Given the description of an element on the screen output the (x, y) to click on. 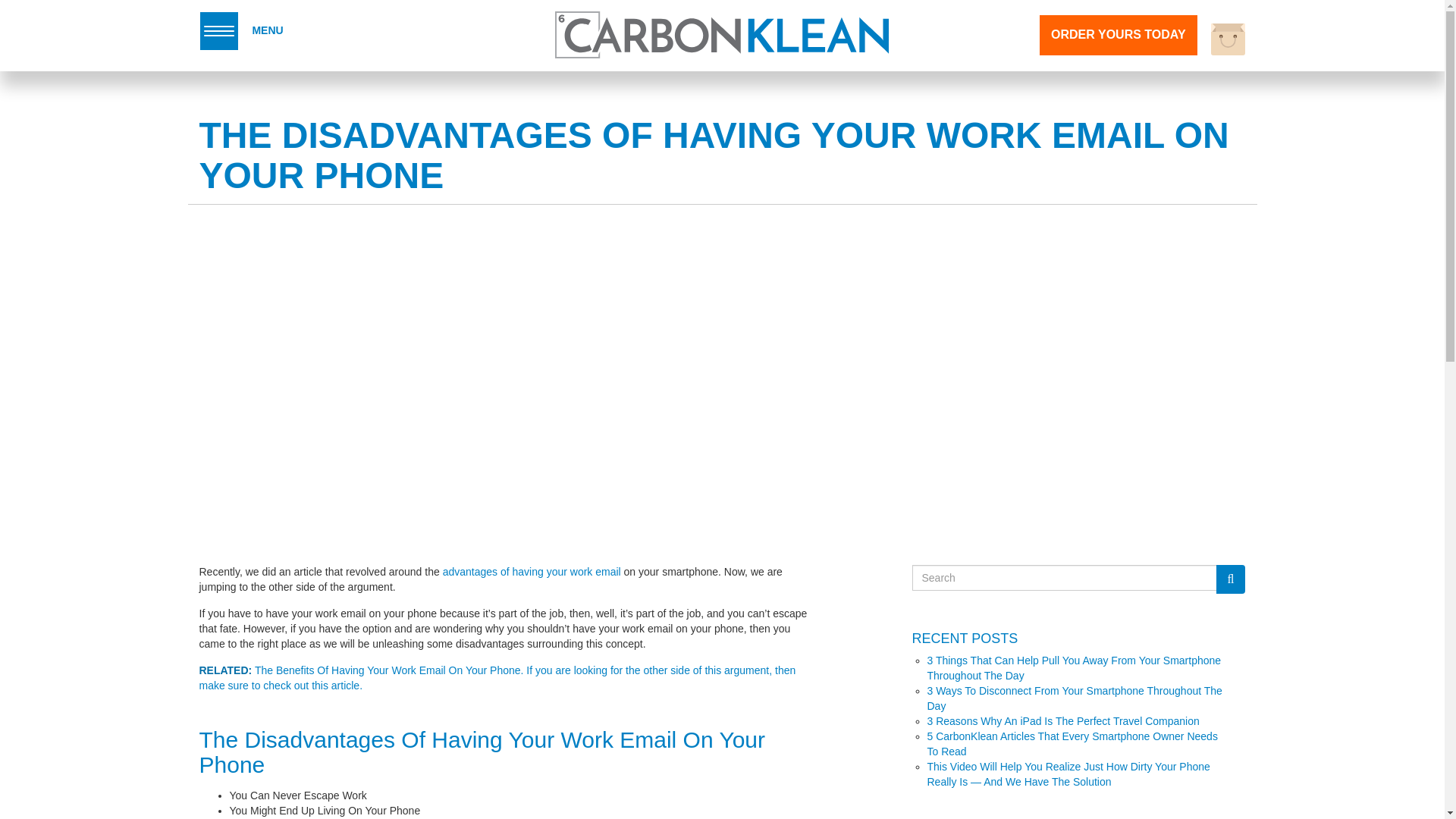
3 Ways To Disconnect From Your Smartphone Throughout The Day (1073, 697)
MENU (240, 30)
View your shopping cart (1227, 39)
advantages of having your work email (531, 571)
3 Reasons Why An iPad Is The Perfect Travel Companion (1062, 720)
ORDER YOURS TODAY (1117, 35)
